Given the description of an element on the screen output the (x, y) to click on. 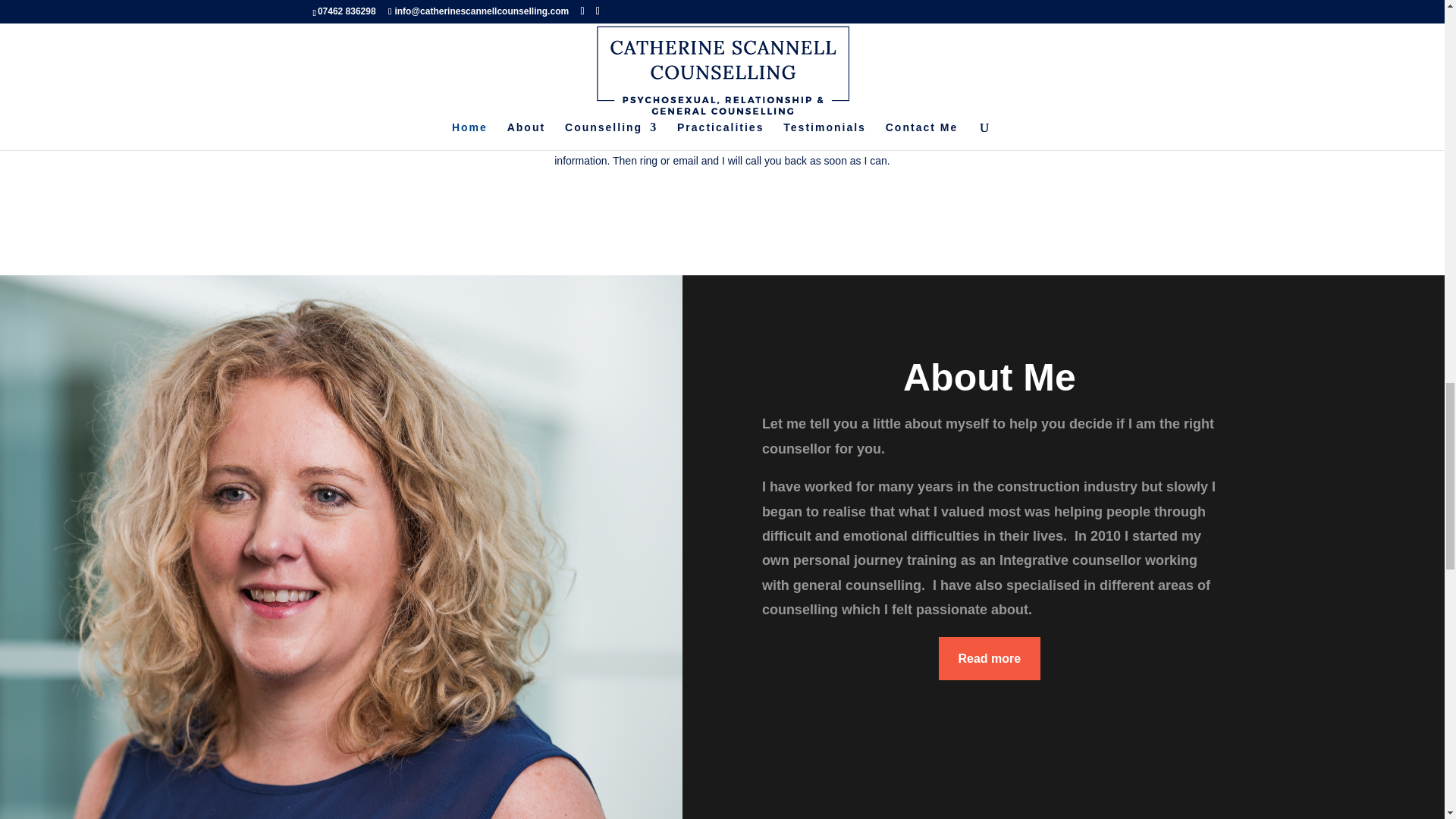
Read more (990, 658)
